Given the description of an element on the screen output the (x, y) to click on. 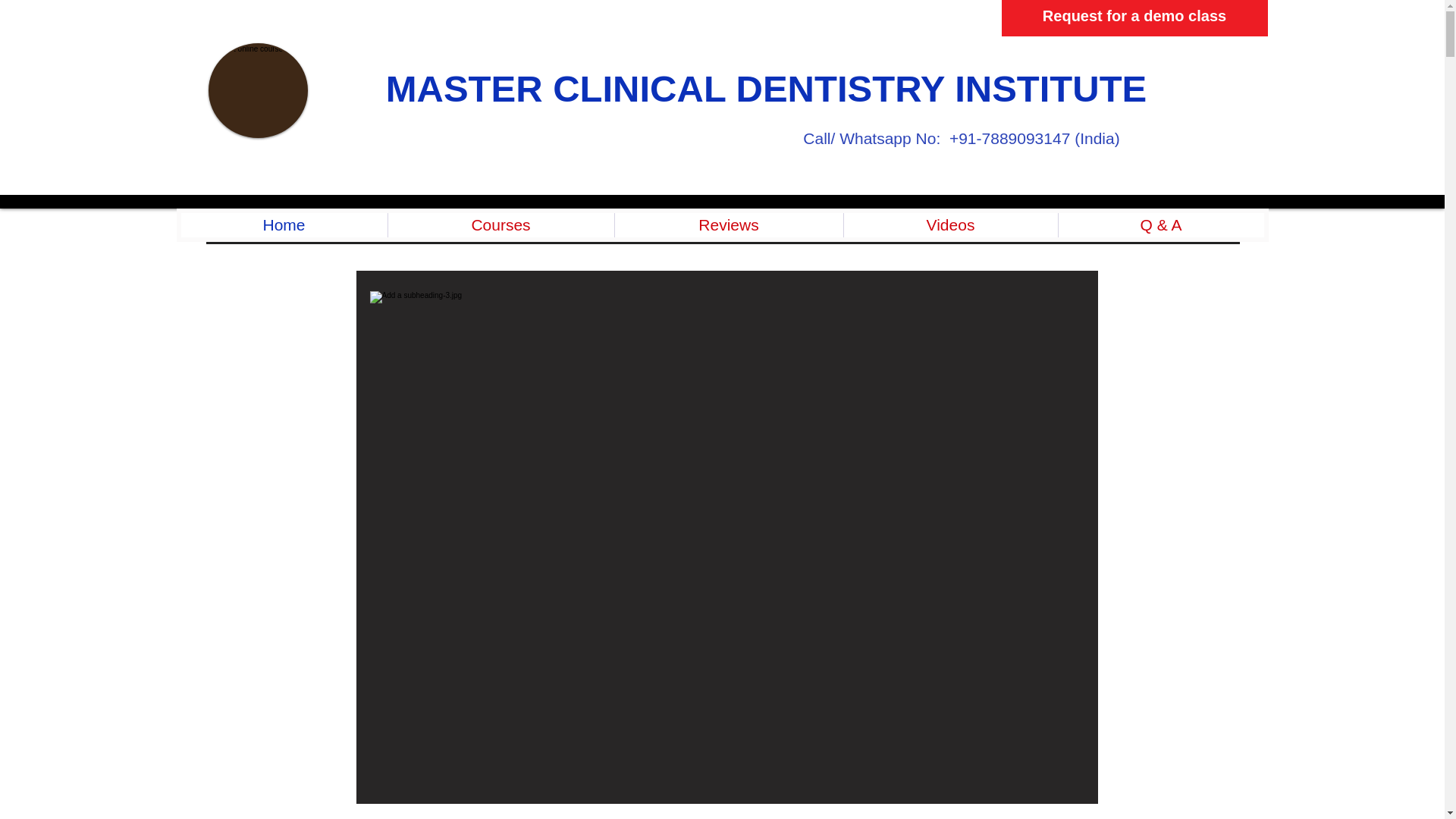
Request for a demo class (1133, 18)
online dental fellowship (257, 90)
